Given the description of an element on the screen output the (x, y) to click on. 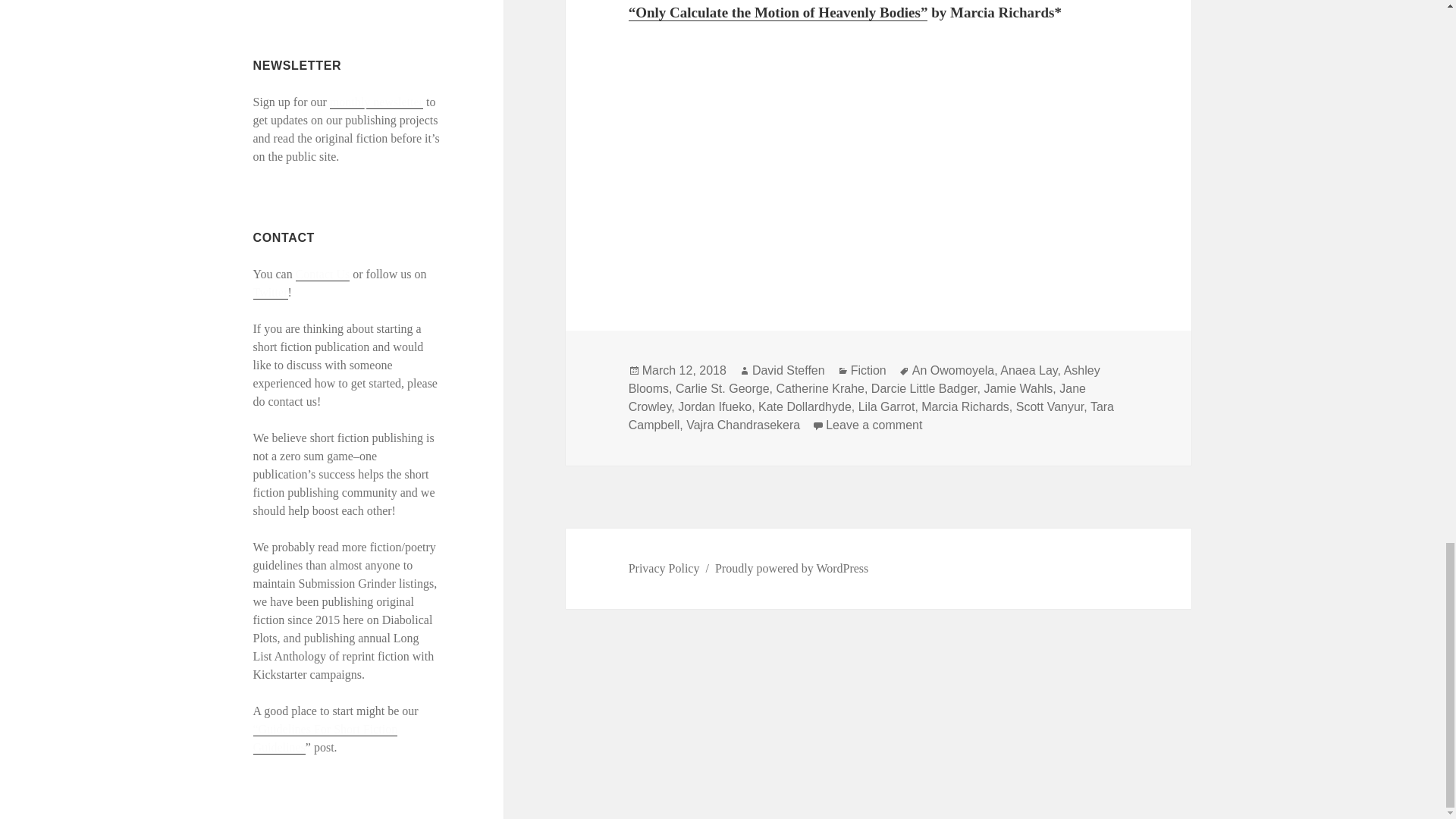
March 12, 2018 (684, 370)
Twitter (270, 292)
monthly newsletter (376, 101)
Contact Us (322, 274)
David Steffen (788, 370)
Fiction (868, 370)
